Given the description of an element on the screen output the (x, y) to click on. 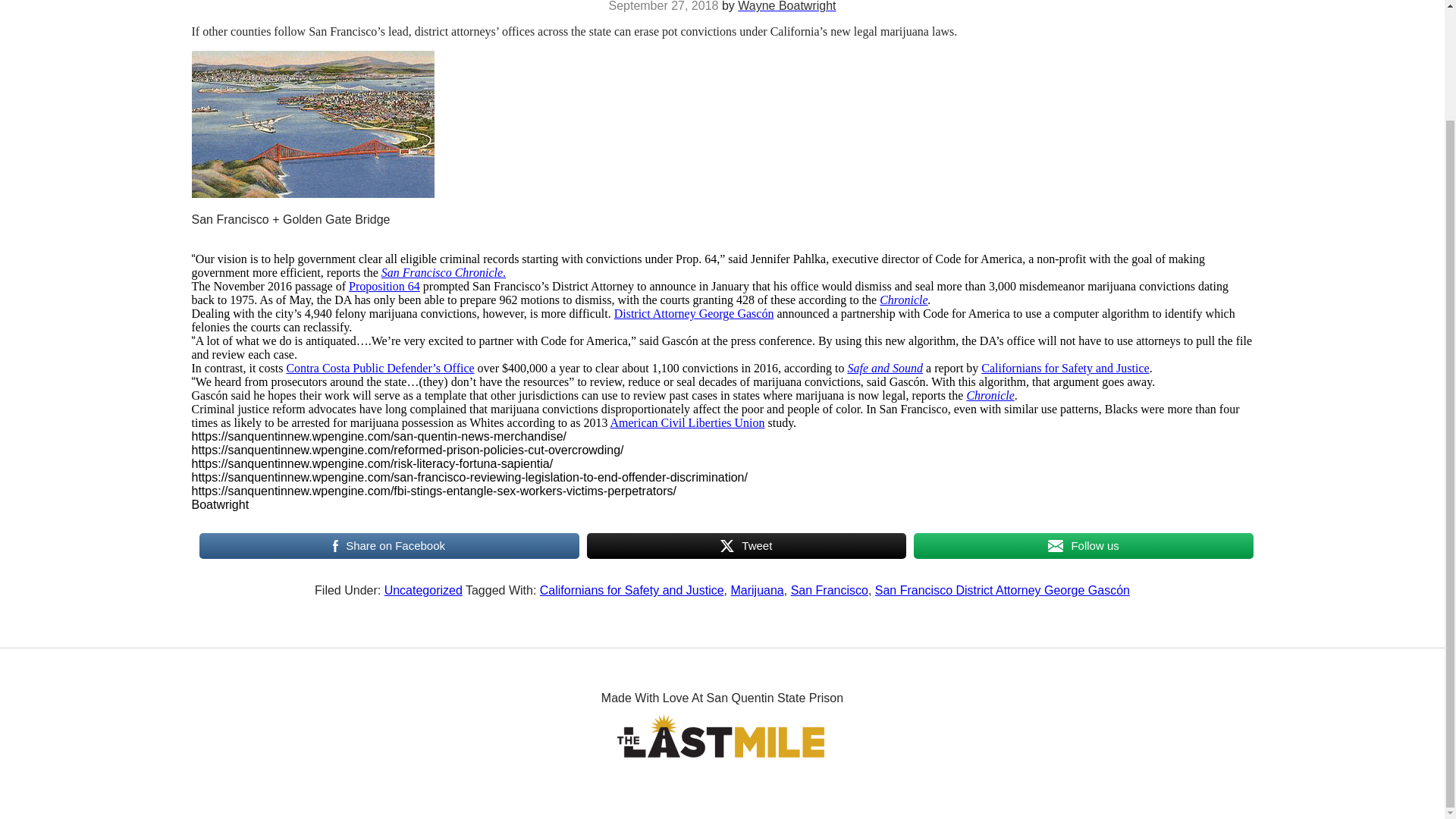
Californians for Safety and Justice (631, 590)
American Civil Liberties Union (687, 422)
San Francisco Chronicle. (443, 272)
Marijuana (756, 590)
Proposition 64 (384, 286)
San Francisco (828, 590)
Chronicle (903, 299)
Uncategorized (423, 590)
Californians for Safety and Justice (1064, 367)
Chronicle (989, 395)
